Given the description of an element on the screen output the (x, y) to click on. 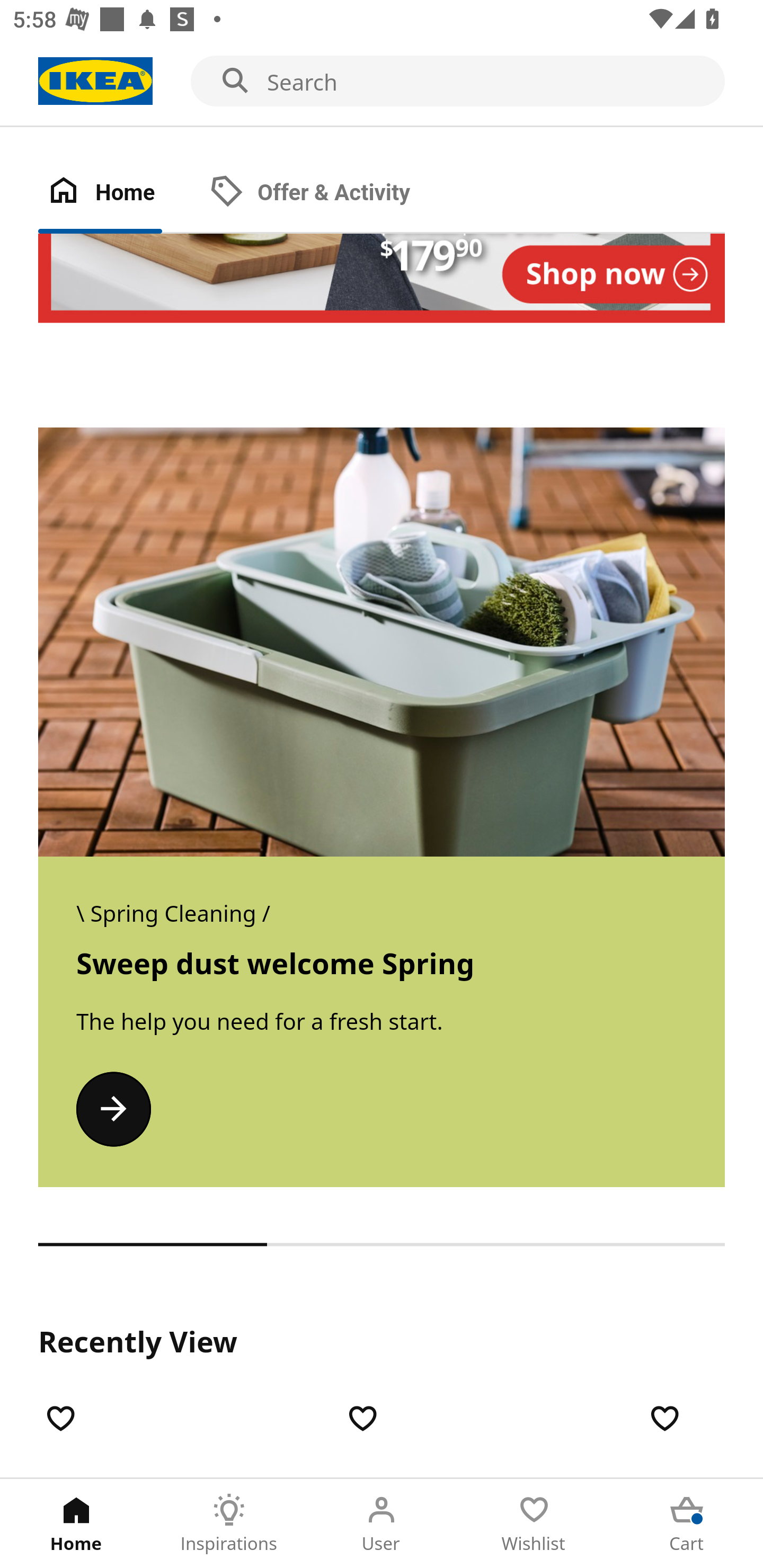
Search (381, 81)
Home
Tab 1 of 2 (118, 192)
Offer & Activity
Tab 2 of 2 (327, 192)
Home
Tab 1 of 5 (76, 1522)
Inspirations
Tab 2 of 5 (228, 1522)
User
Tab 3 of 5 (381, 1522)
Wishlist
Tab 4 of 5 (533, 1522)
Cart
Tab 5 of 5 (686, 1522)
